Given the description of an element on the screen output the (x, y) to click on. 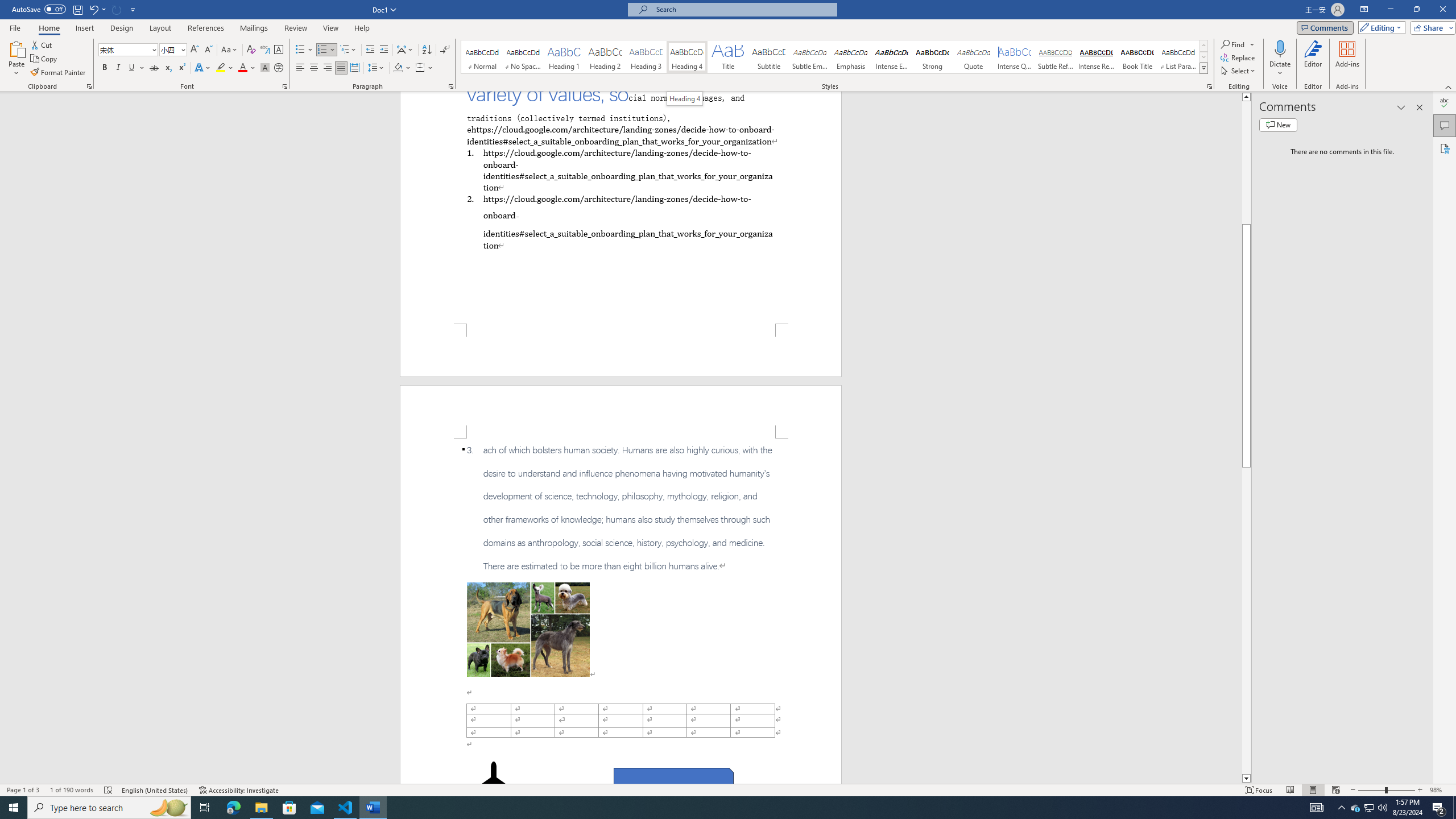
Undo Apply Quick Style (96, 9)
Customize Quick Access Toolbar (133, 9)
Font Color (246, 67)
Can't Repeat (117, 9)
Restore Down (1416, 9)
Intense Quote (1014, 56)
More Options (1280, 68)
Underline (131, 67)
Intense Reference (1095, 56)
Copy (45, 58)
Heading 4 (684, 98)
Text Effects and Typography (202, 67)
